Given the description of an element on the screen output the (x, y) to click on. 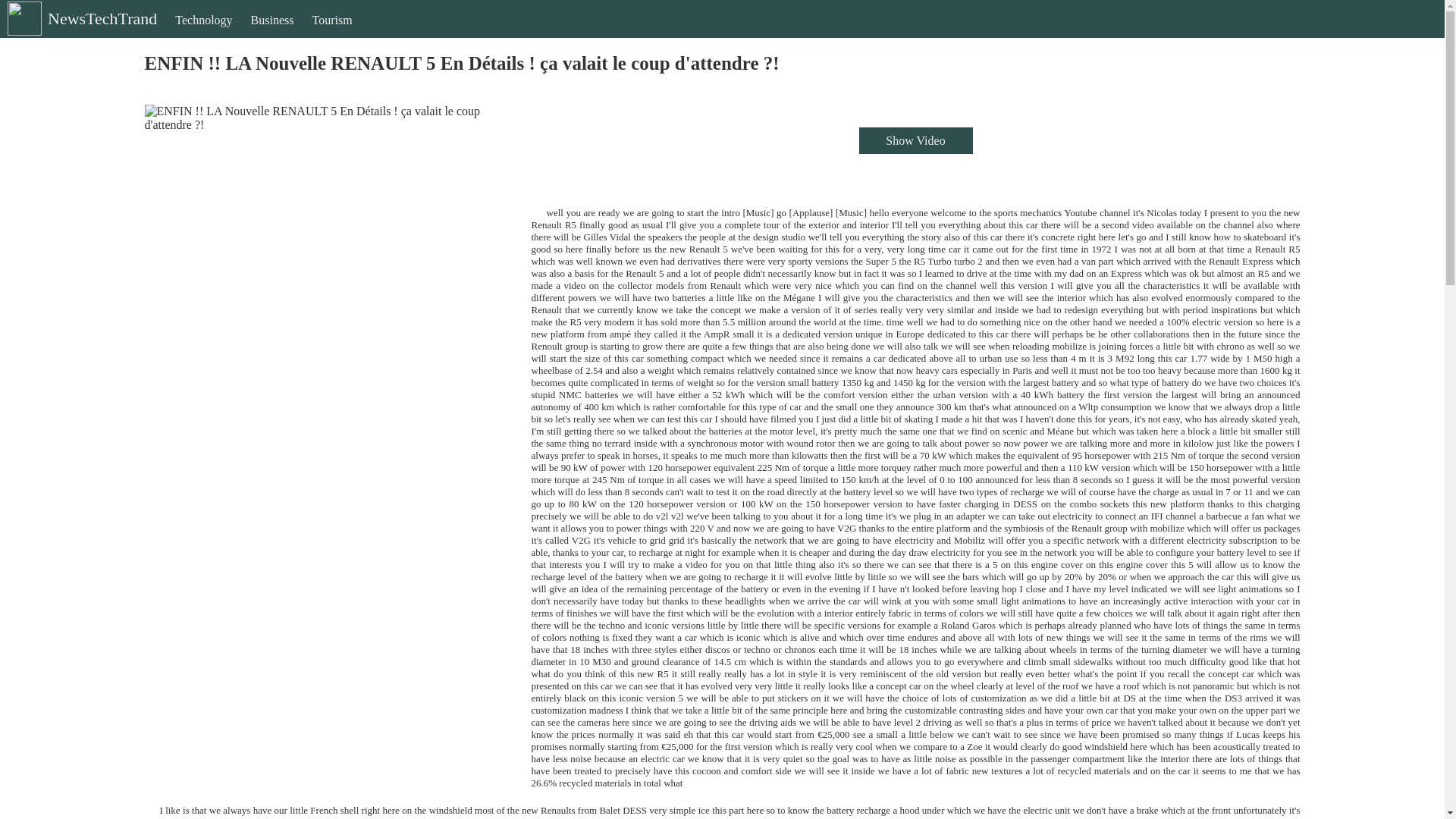
NewsTechTrand (80, 31)
Show Video (915, 140)
Tourism (332, 32)
Business (272, 32)
Technology (202, 32)
